Given the description of an element on the screen output the (x, y) to click on. 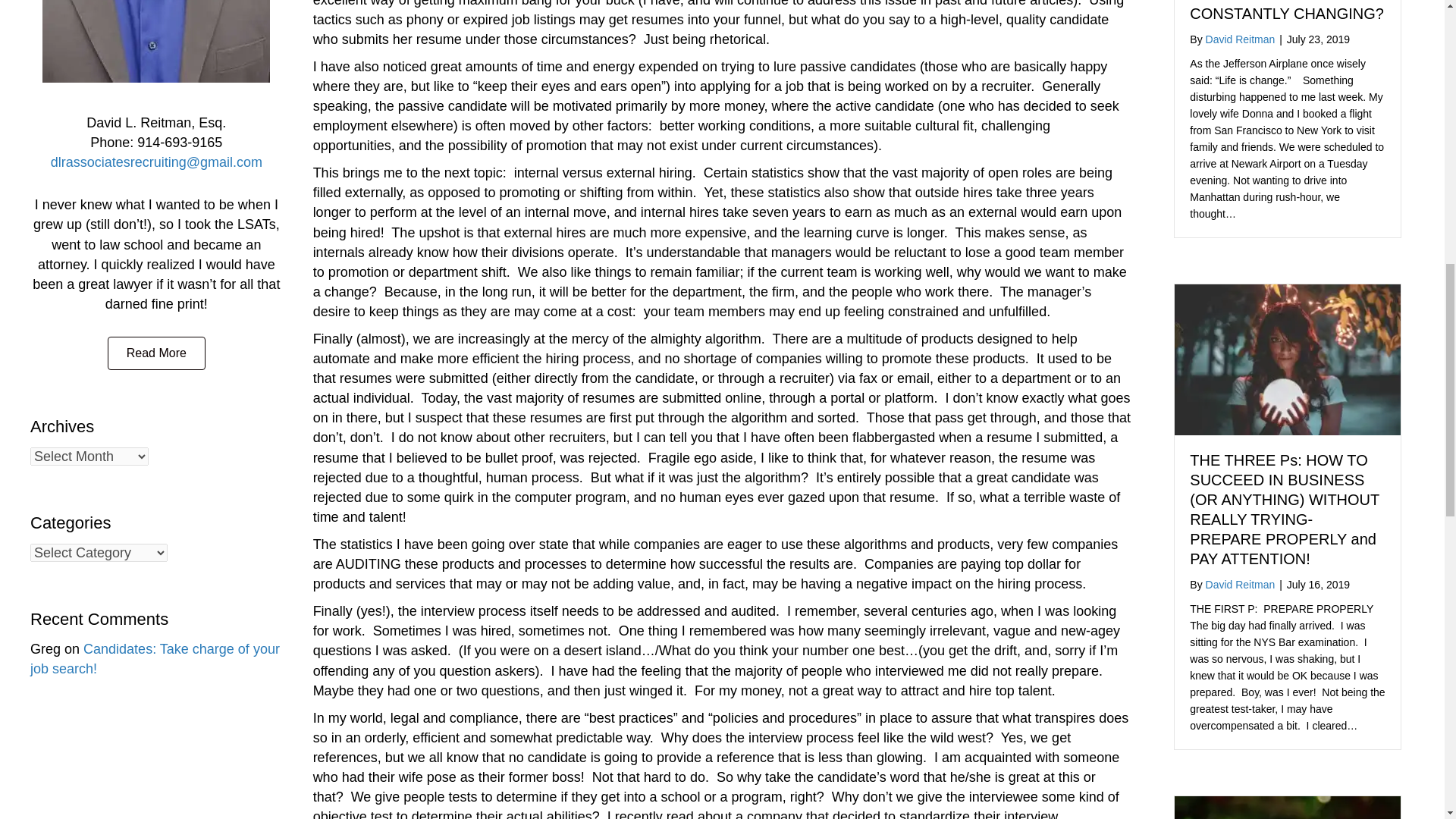
David-Reitman300 (155, 41)
Candidates: Take charge of your job search! (154, 658)
David Reitman (1240, 39)
Read More (156, 353)
David Reitman (1240, 584)
